Given the description of an element on the screen output the (x, y) to click on. 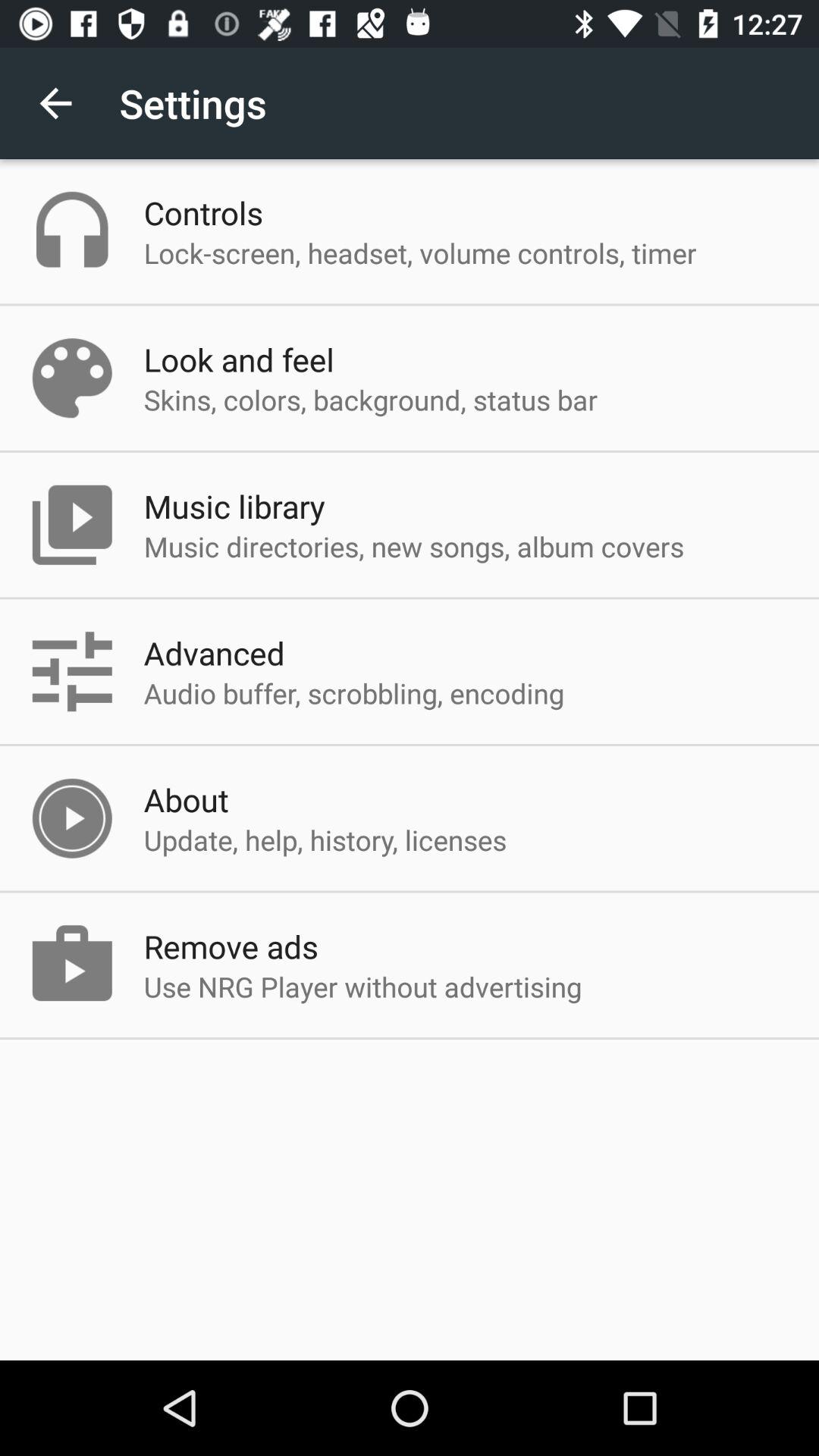
tap the item above the use nrg player app (230, 946)
